Given the description of an element on the screen output the (x, y) to click on. 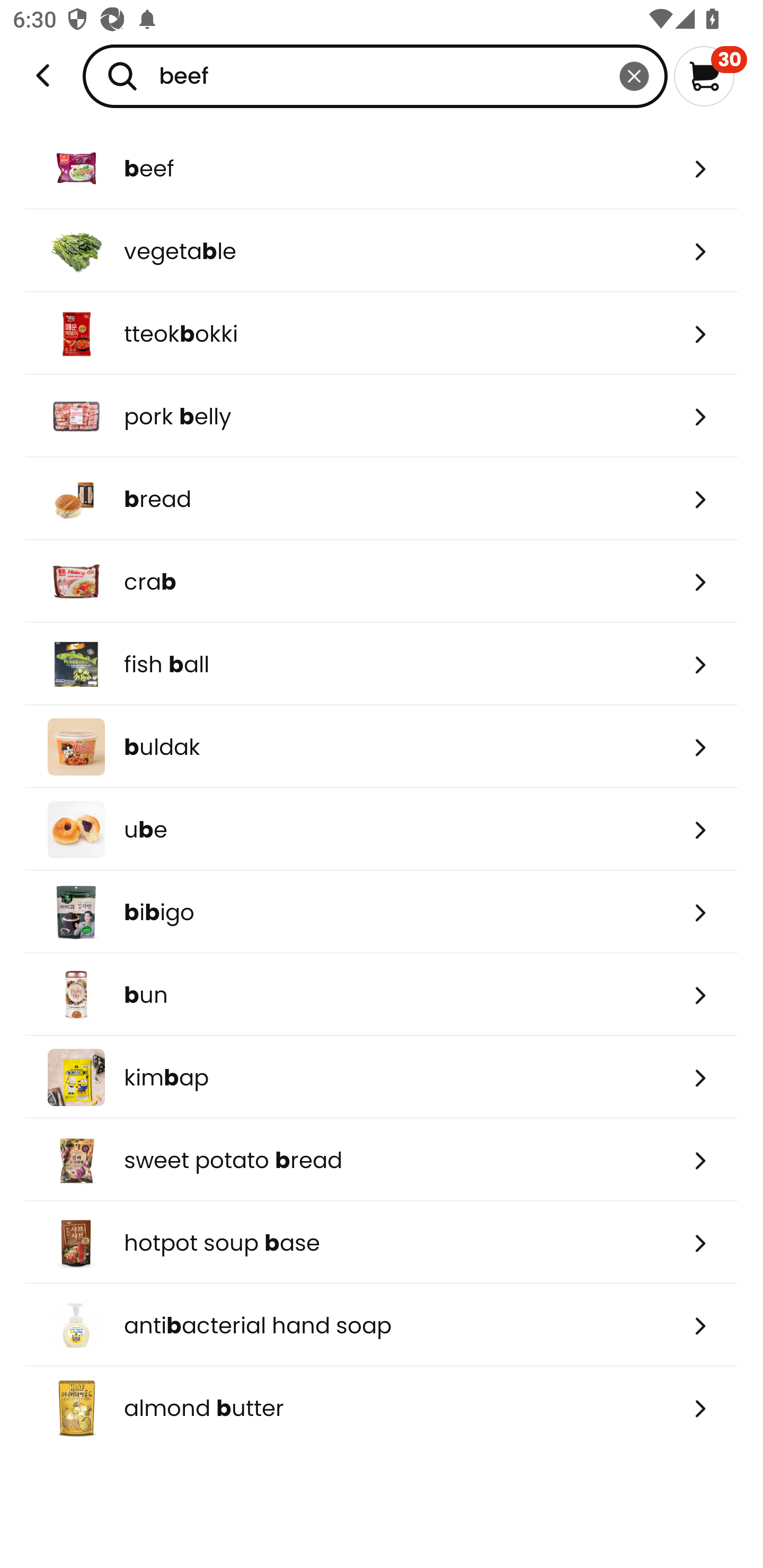
beef (374, 75)
30 (709, 75)
Weee! (42, 76)
beef (381, 168)
vegetable (381, 250)
tteokbokki (381, 332)
pork belly (381, 415)
bread (381, 498)
crab (381, 581)
fish ball (381, 663)
buldak (381, 746)
ube (381, 829)
bibigo (381, 911)
bun (381, 994)
kimbap (381, 1077)
sweet potato bread (381, 1160)
hotpot soup base (381, 1242)
antibacterial hand soap (381, 1325)
almond butter (381, 1407)
